Given the description of an element on the screen output the (x, y) to click on. 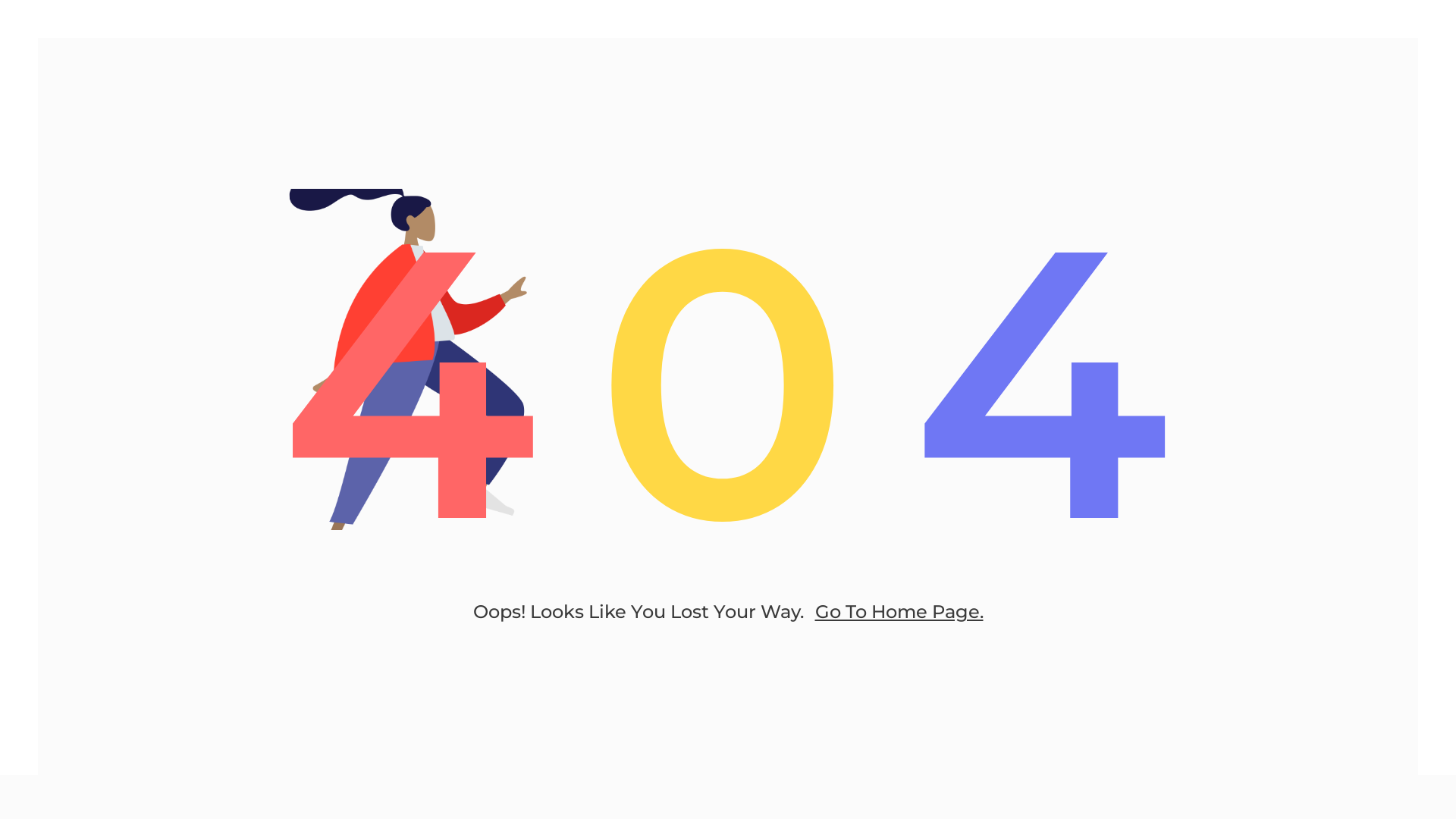
Go To Home Page. Element type: text (898, 611)
